Given the description of an element on the screen output the (x, y) to click on. 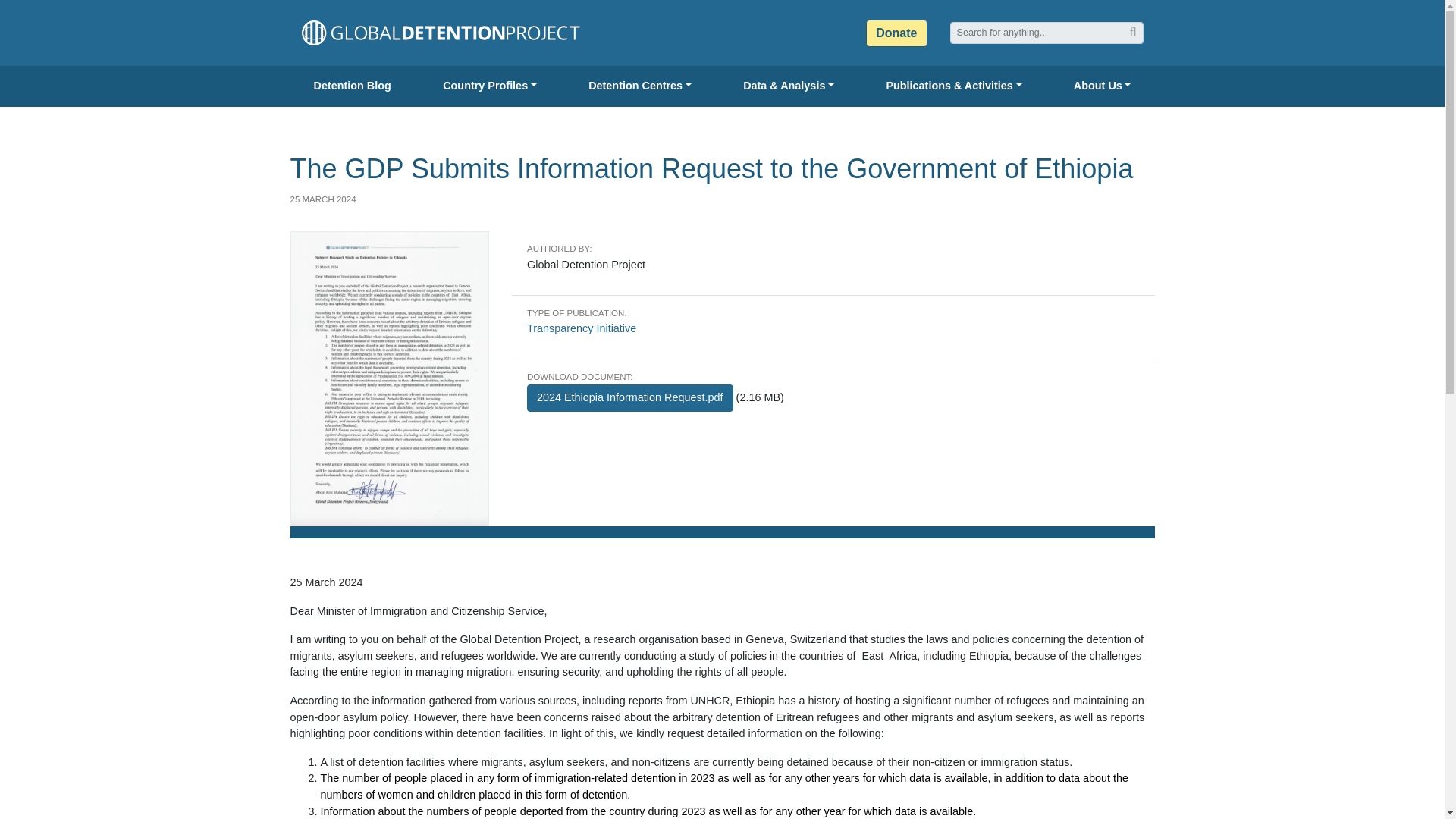
Detention Blog (352, 86)
Country Profiles (489, 86)
Donate (896, 32)
